Given the description of an element on the screen output the (x, y) to click on. 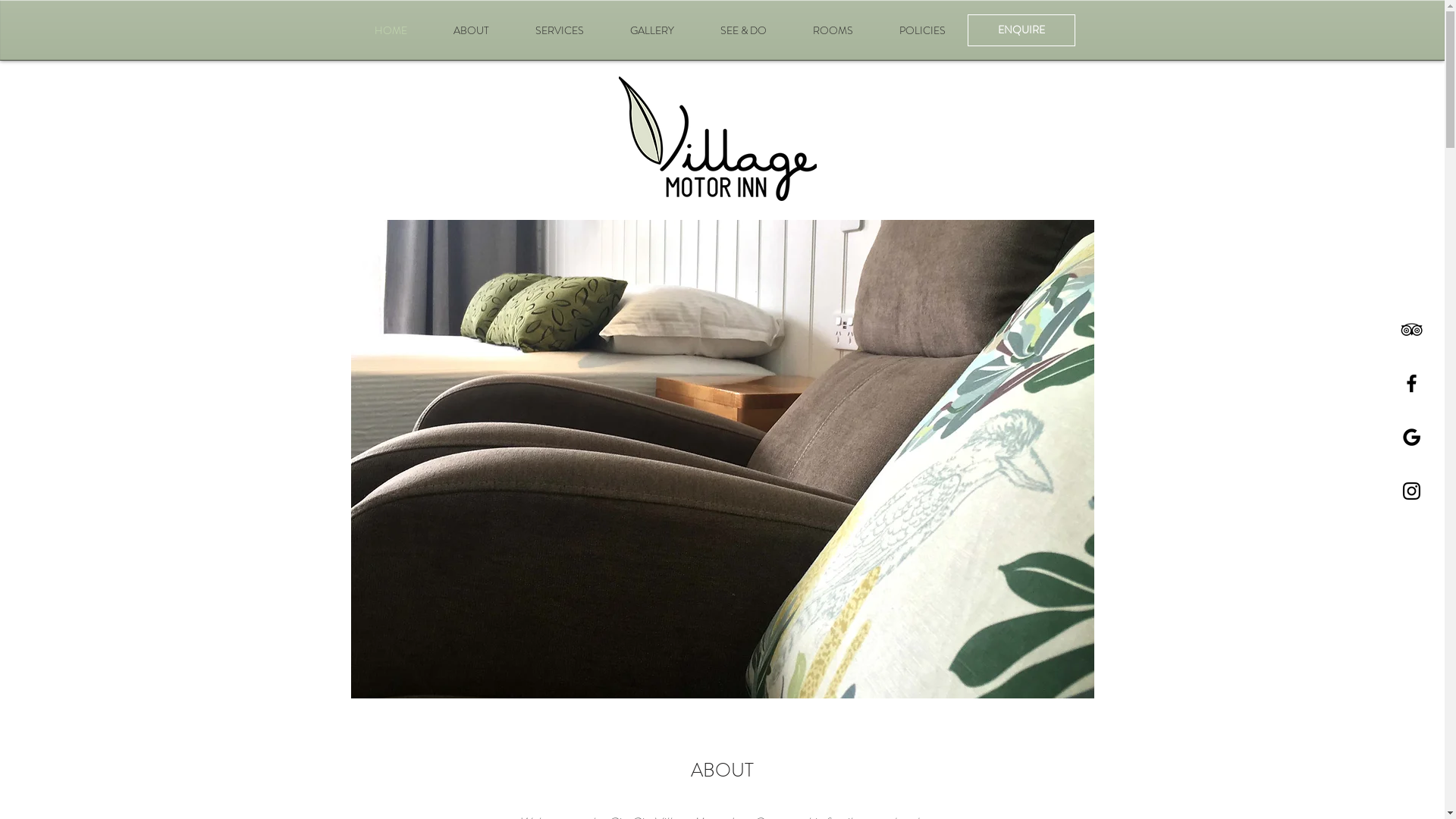
ENQUIRE Element type: text (1021, 30)
POLICIES Element type: text (922, 30)
ROOMS Element type: text (833, 30)
ABOUT Element type: text (471, 30)
HOME Element type: text (389, 30)
SEE & DO Element type: text (743, 30)
SERVICES Element type: text (559, 30)
GALLERY Element type: text (651, 30)
